Given the description of an element on the screen output the (x, y) to click on. 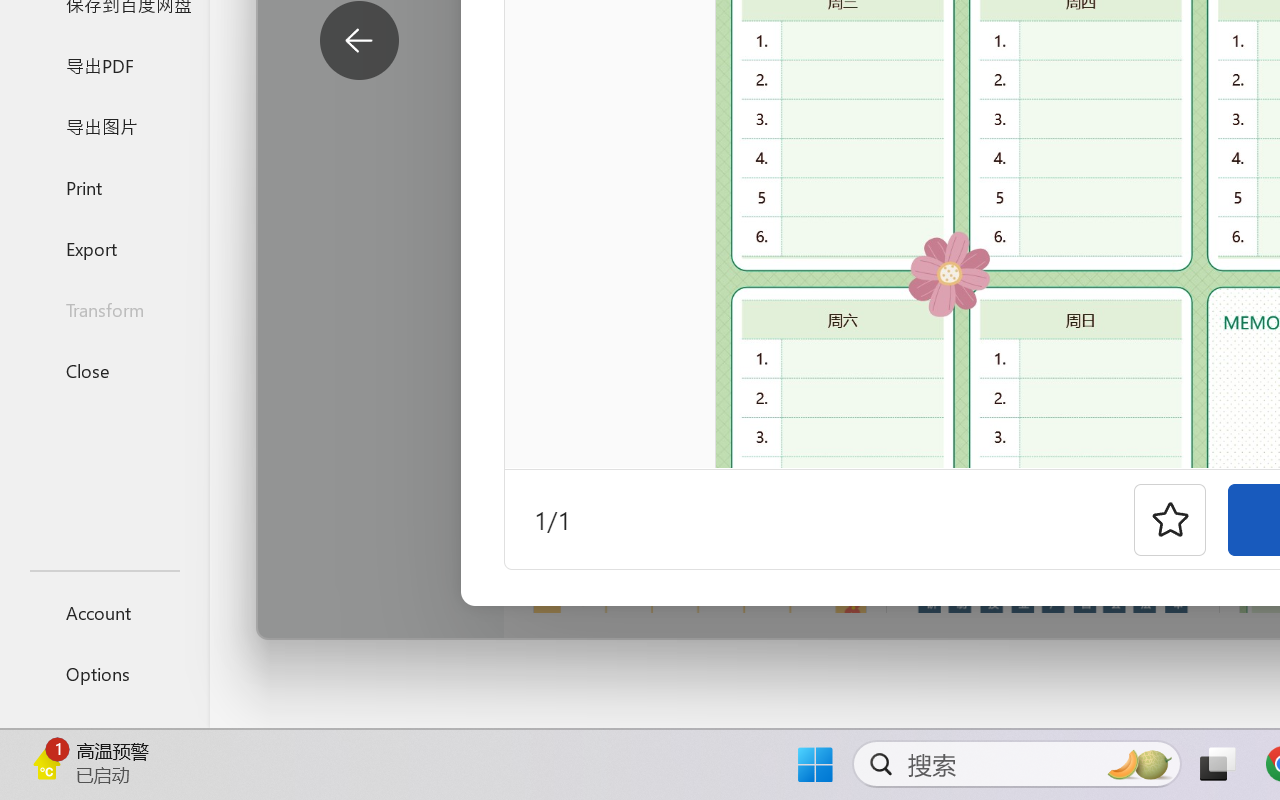
Options (104, 673)
Export (104, 248)
Transform (104, 309)
Account (104, 612)
